Given the description of an element on the screen output the (x, y) to click on. 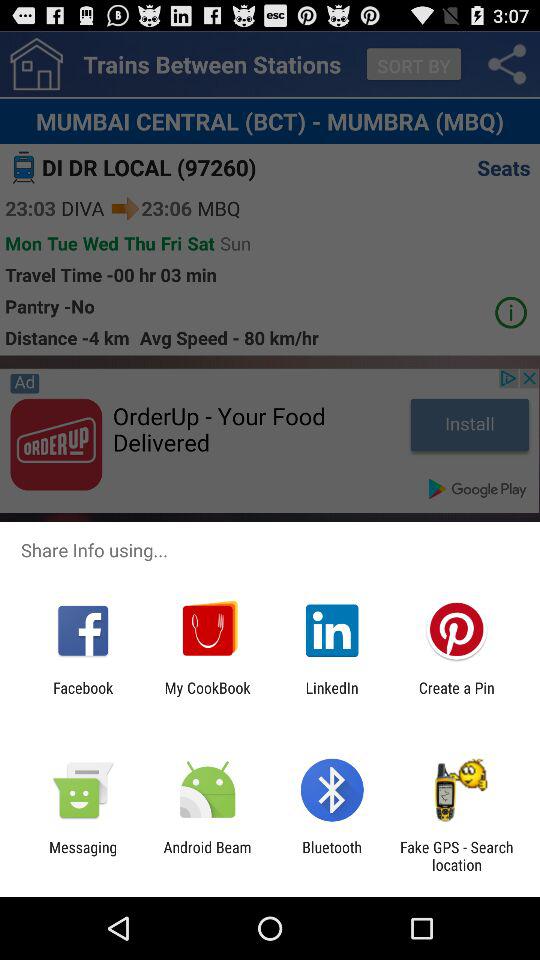
launch the my cookbook item (207, 696)
